Given the description of an element on the screen output the (x, y) to click on. 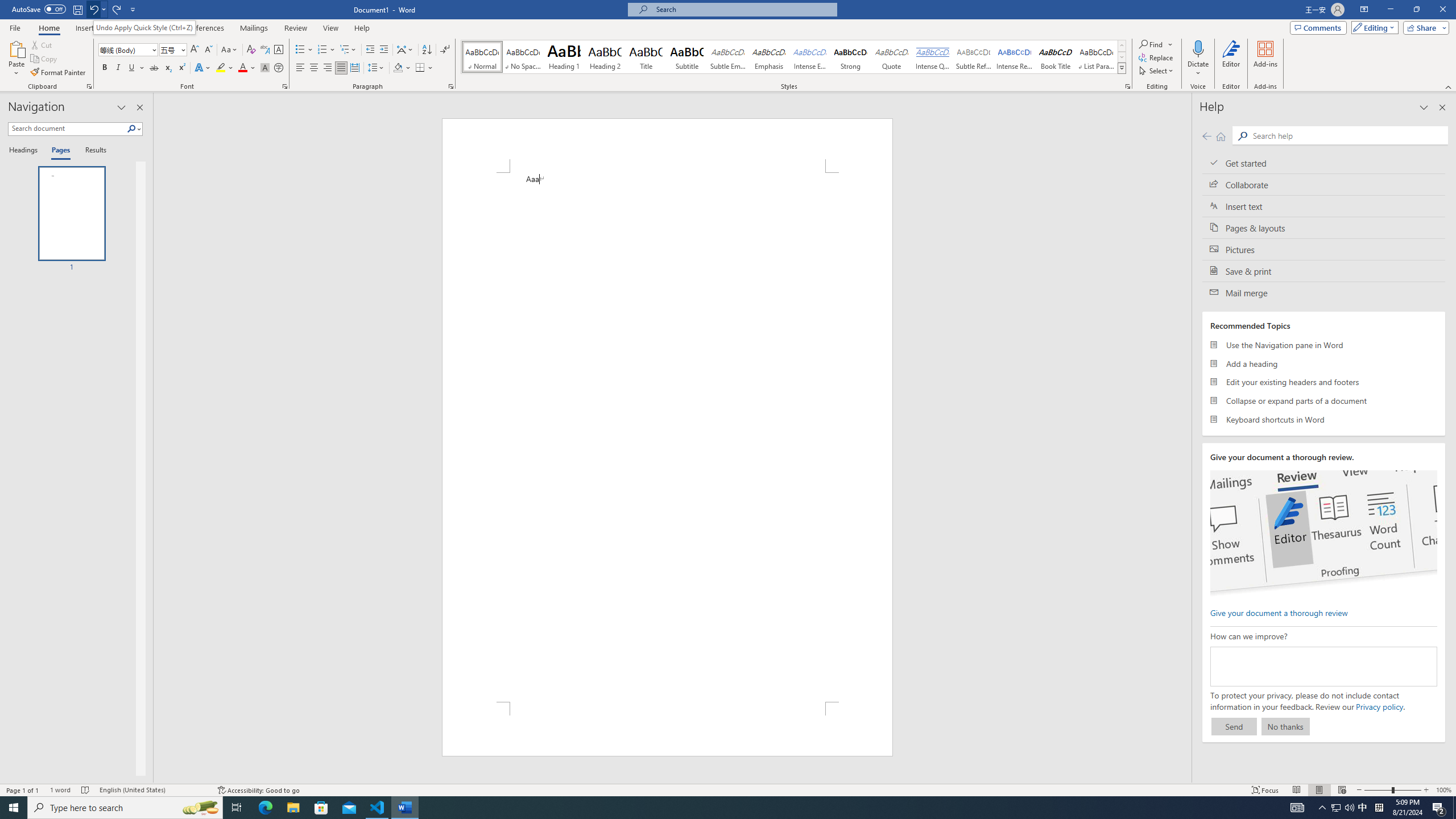
Undo Apply Quick Style (92, 9)
Font Color (246, 67)
Pictures (1323, 249)
Previous page (1206, 136)
Superscript (180, 67)
Show/Hide Editing Marks (444, 49)
Pages (59, 150)
Edit your existing headers and footers (1323, 381)
Privacy policy (1379, 706)
Change Case (229, 49)
Shading (402, 67)
Sort... (426, 49)
Mode (1372, 27)
